Given the description of an element on the screen output the (x, y) to click on. 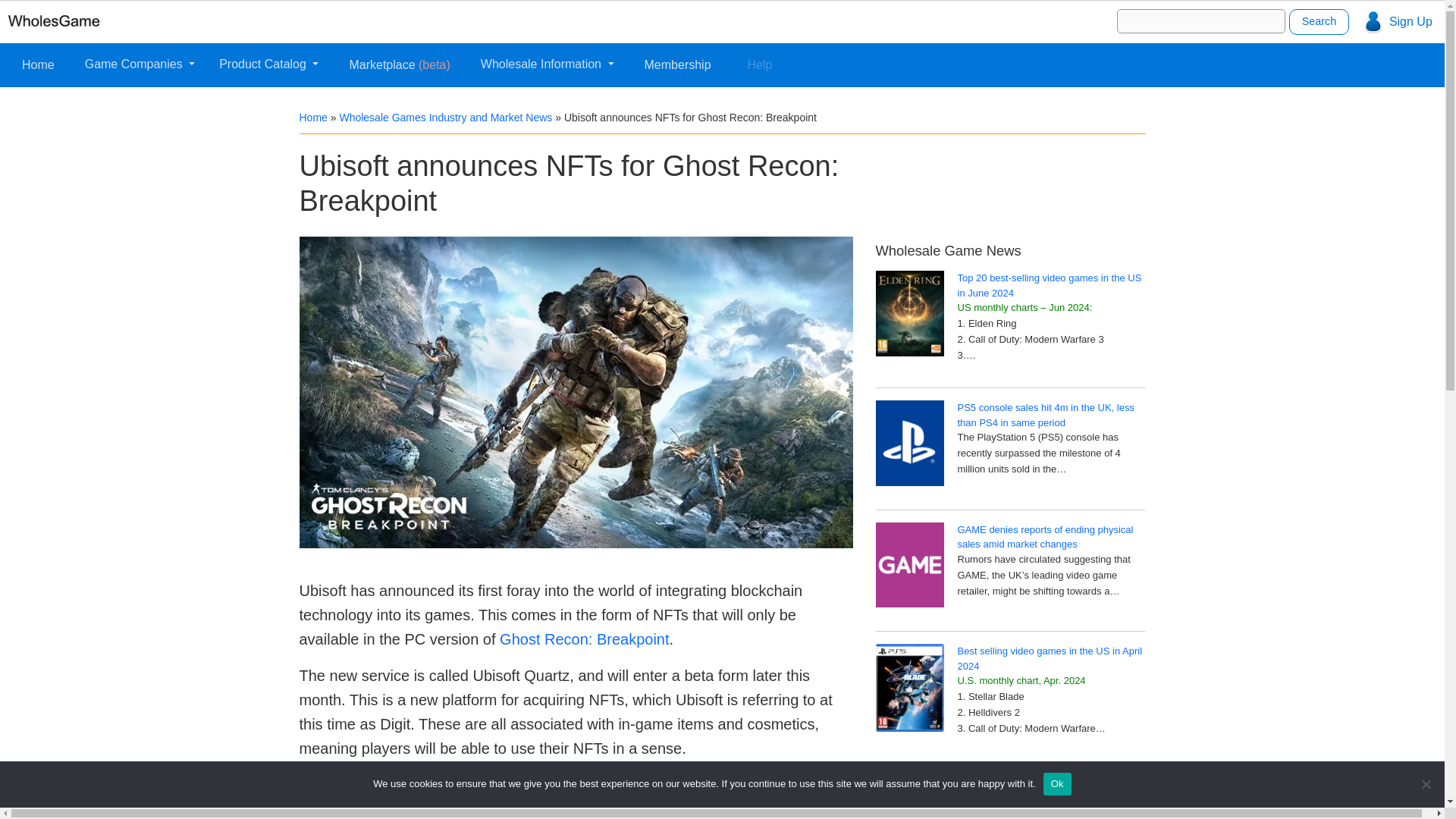
No (1425, 783)
Home (38, 65)
Wholesale Games Industry and Market News (445, 117)
Ubisoft (322, 784)
Help (759, 65)
Search (1318, 22)
Ghost Recon: Breakpoint (583, 638)
Membership (678, 65)
Product Catalog (268, 63)
Home (312, 117)
